Given the description of an element on the screen output the (x, y) to click on. 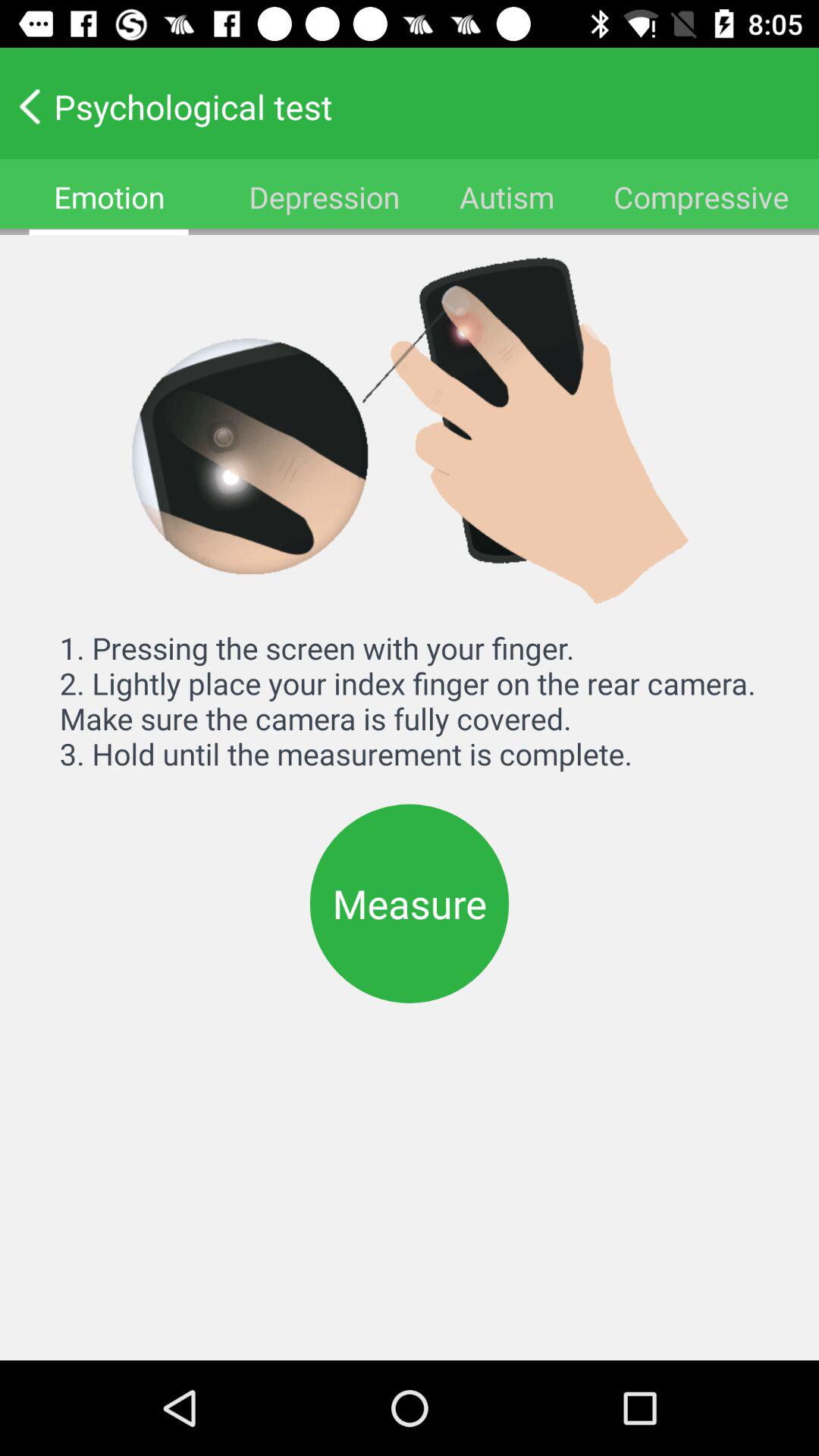
flip to psychological test item (399, 106)
